Given the description of an element on the screen output the (x, y) to click on. 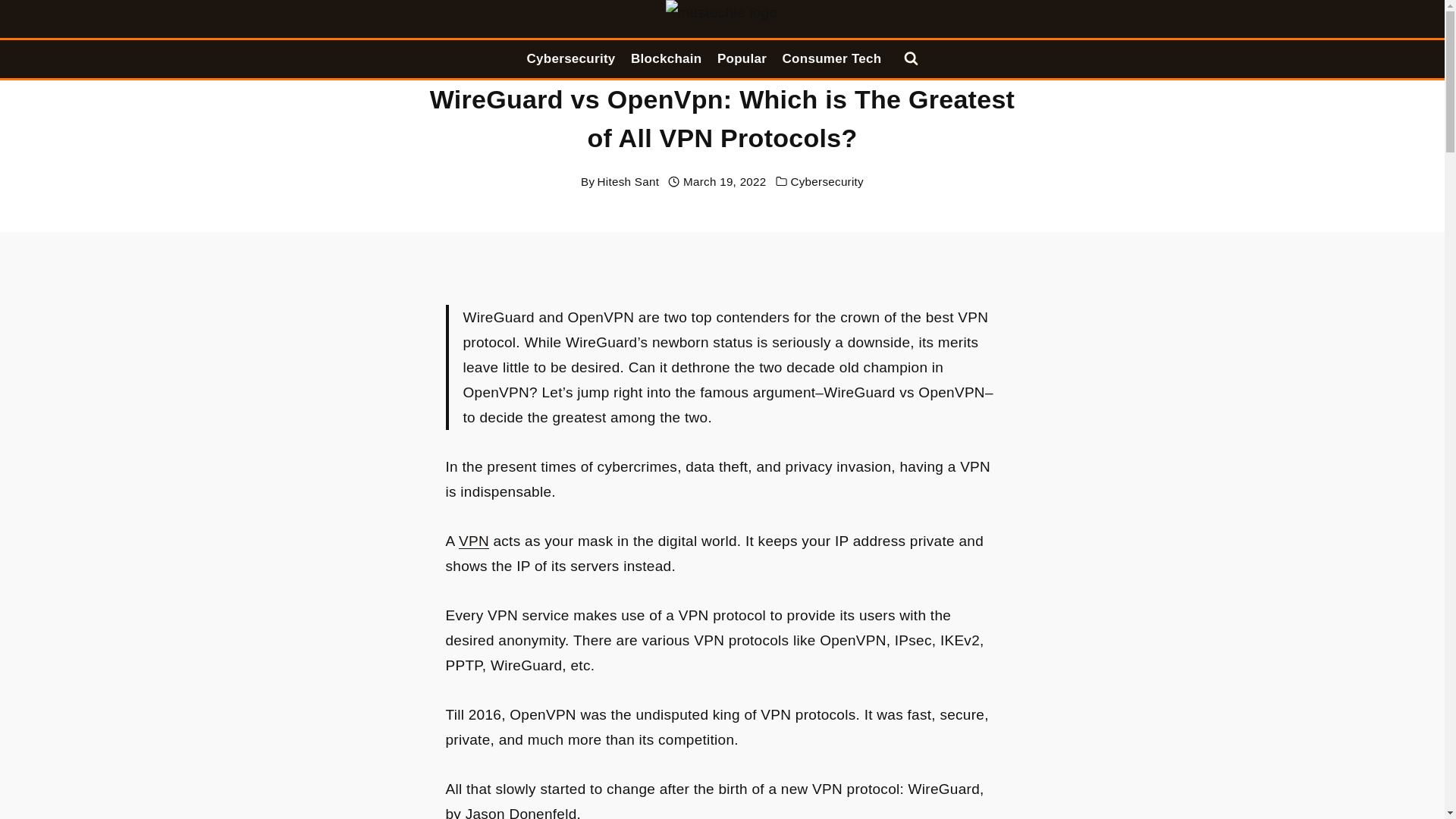
Cybersecurity (570, 59)
VPN (473, 540)
Consumer Tech (831, 59)
Hitesh Sant (627, 181)
Cybersecurity (826, 181)
Blockchain (666, 59)
Popular (742, 59)
